Given the description of an element on the screen output the (x, y) to click on. 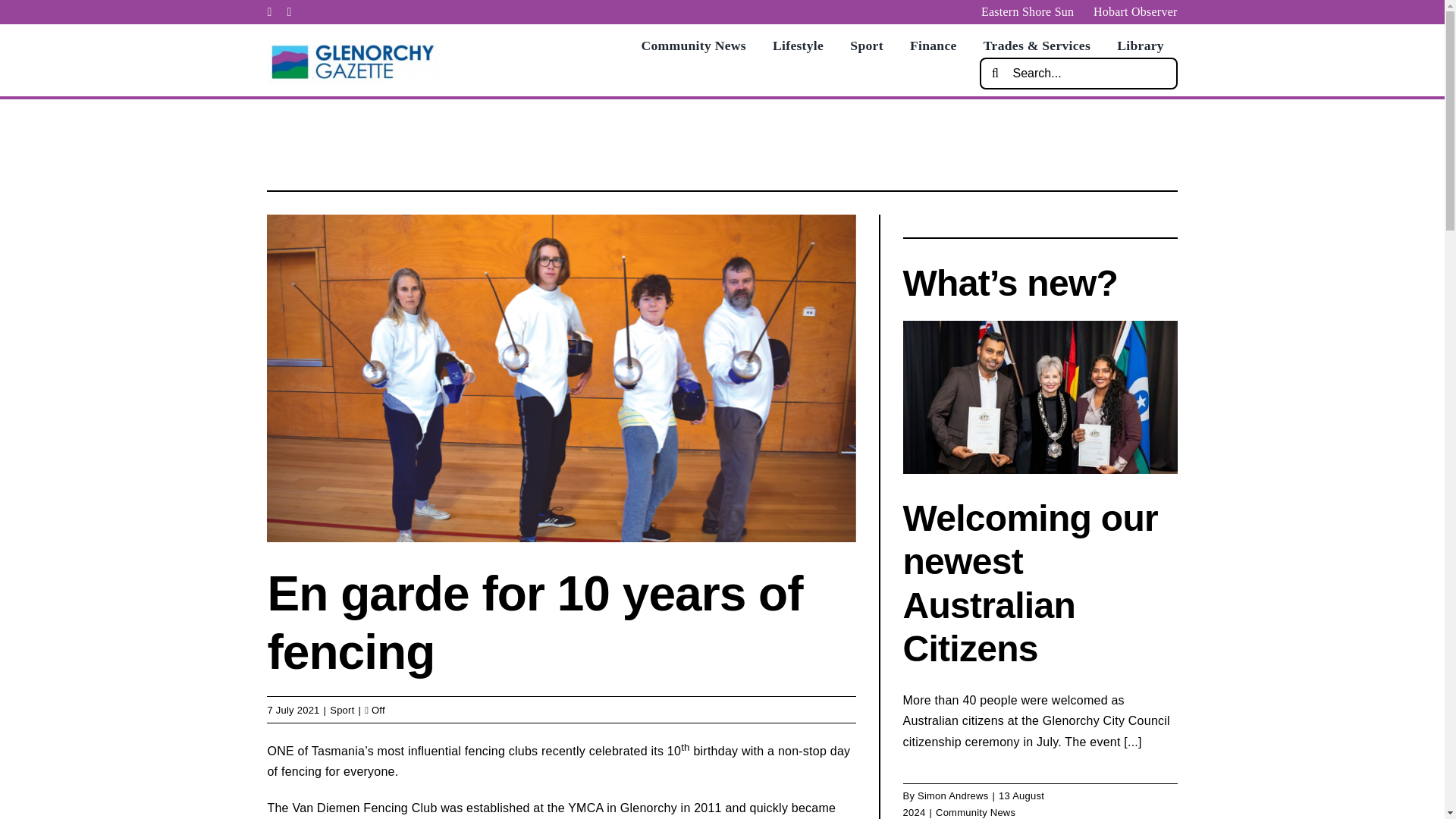
Lifestyle (798, 45)
Simon Andrews (952, 795)
Library (1139, 45)
Welcoming our newest Australian Citizens (1029, 583)
Community News (693, 45)
Posts by Simon Andrews (952, 795)
Finance (933, 45)
Sport (341, 709)
Sport (866, 45)
